Given the description of an element on the screen output the (x, y) to click on. 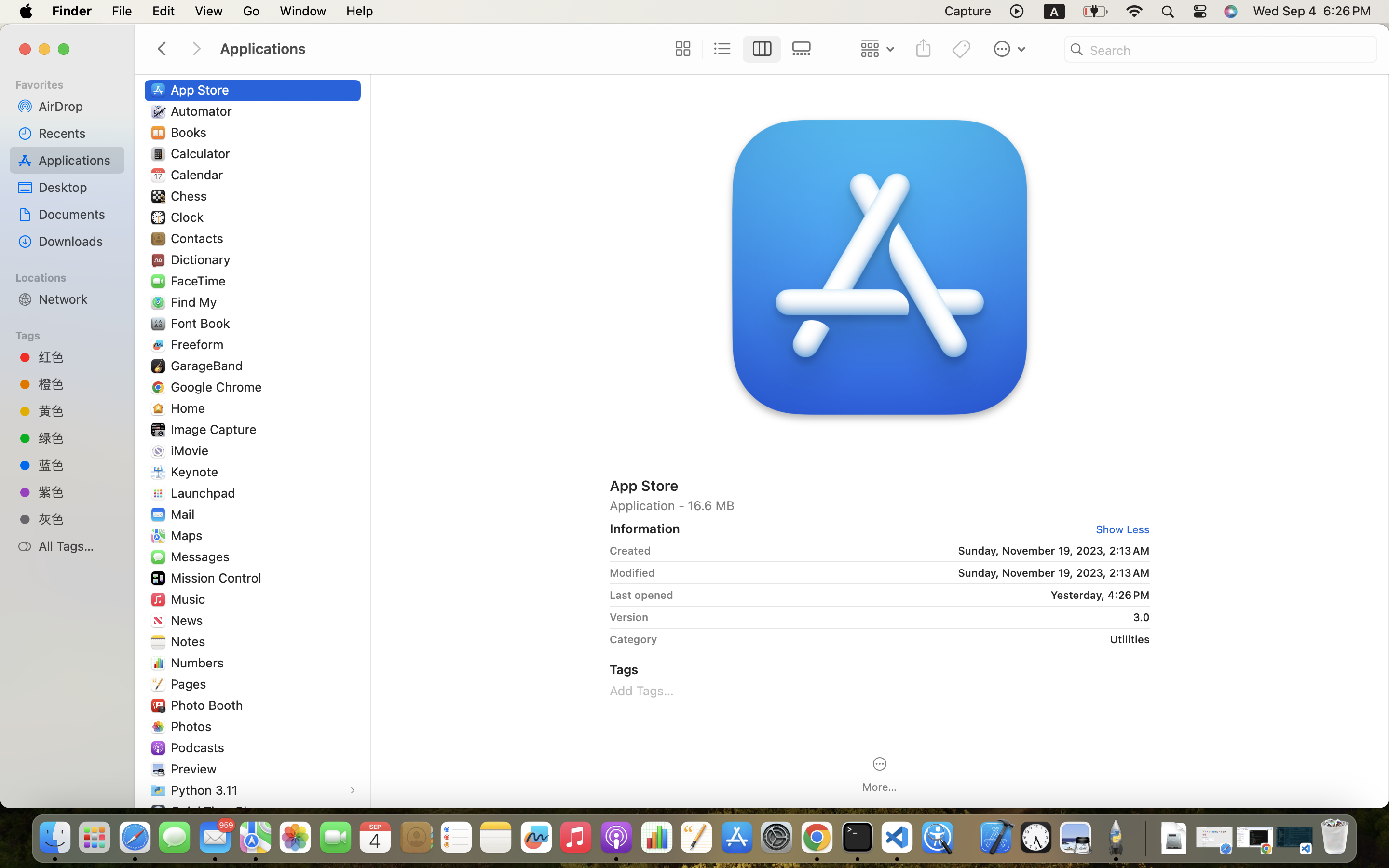
Music Element type: AXTextField (189, 598)
Modified Element type: AXStaticText (631, 572)
Maps Element type: AXTextField (188, 534)
Python 3.11 Element type: AXTextField (206, 789)
All Tags… Element type: AXStaticText (77, 545)
